Given the description of an element on the screen output the (x, y) to click on. 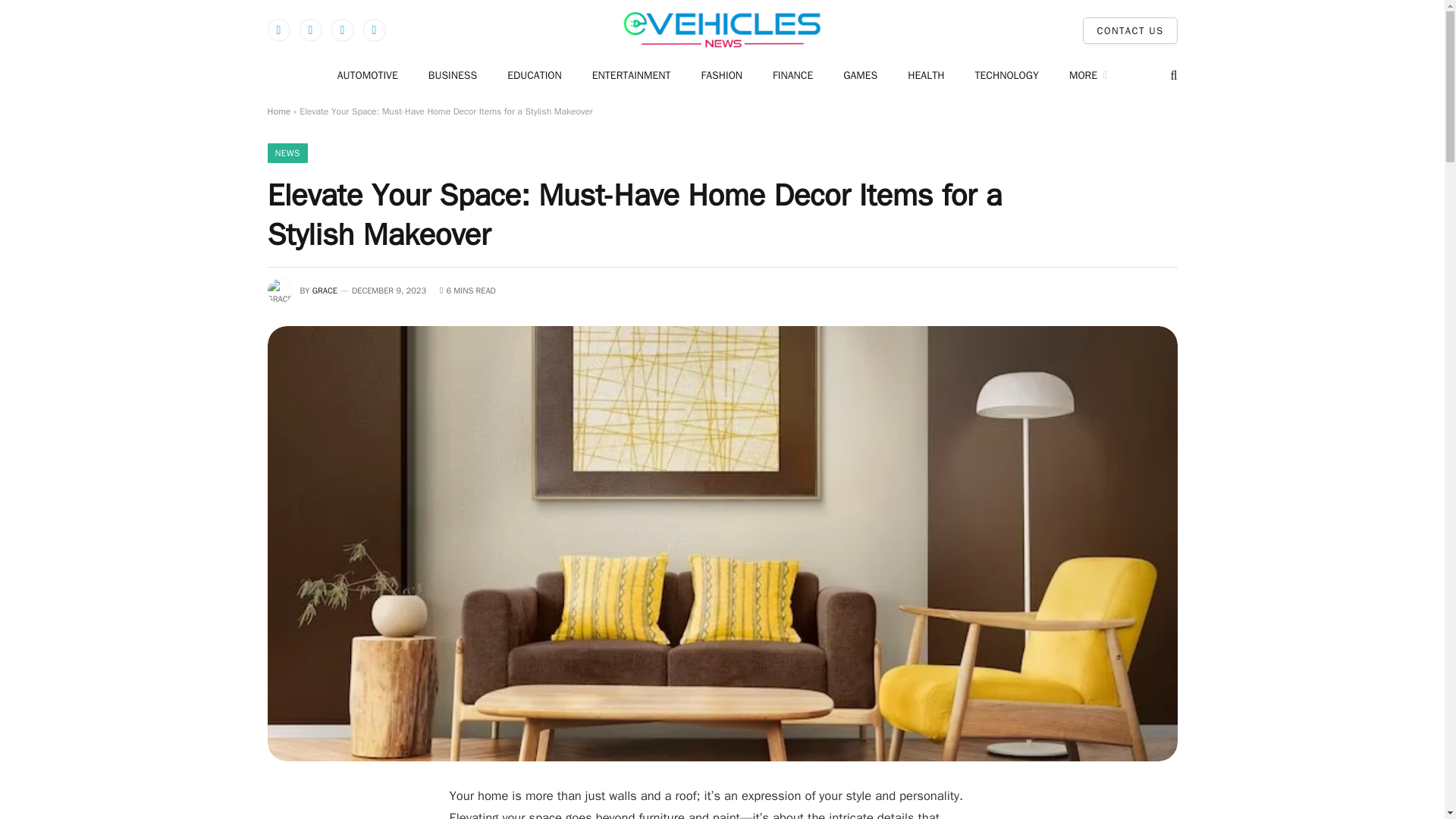
GAMES (860, 75)
BUSINESS (452, 75)
LinkedIn (373, 29)
evehiclesnews.com (722, 30)
TECHNOLOGY (1005, 75)
ENTERTAINMENT (630, 75)
GRACE (325, 290)
MORE (1088, 75)
HEALTH (925, 75)
NEWS (286, 152)
AUTOMOTIVE (367, 75)
Posts by Grace (325, 290)
CONTACT US (1129, 29)
Facebook (277, 29)
